Given the description of an element on the screen output the (x, y) to click on. 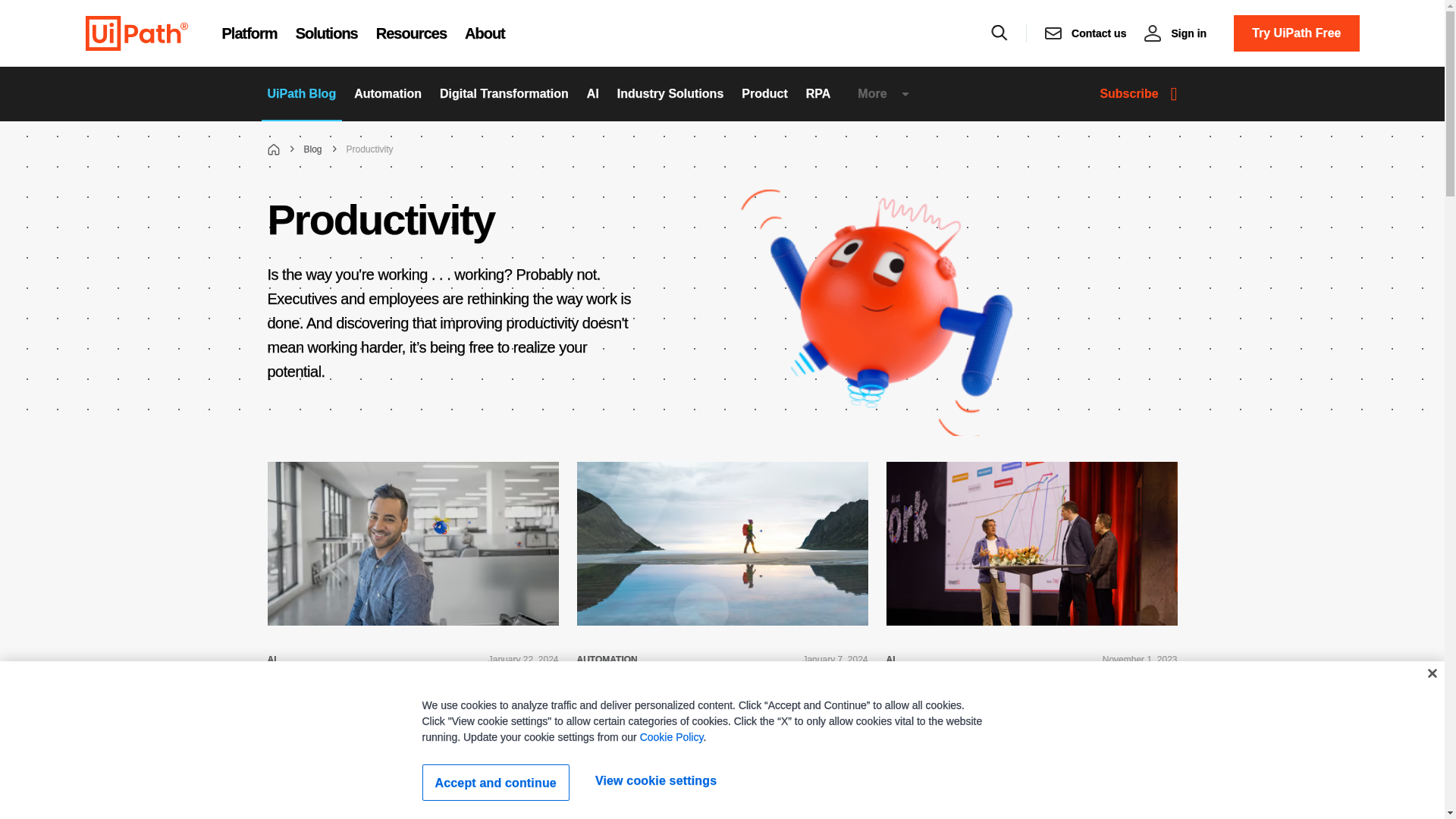
Solutions (326, 33)
Platform (248, 33)
